Given the description of an element on the screen output the (x, y) to click on. 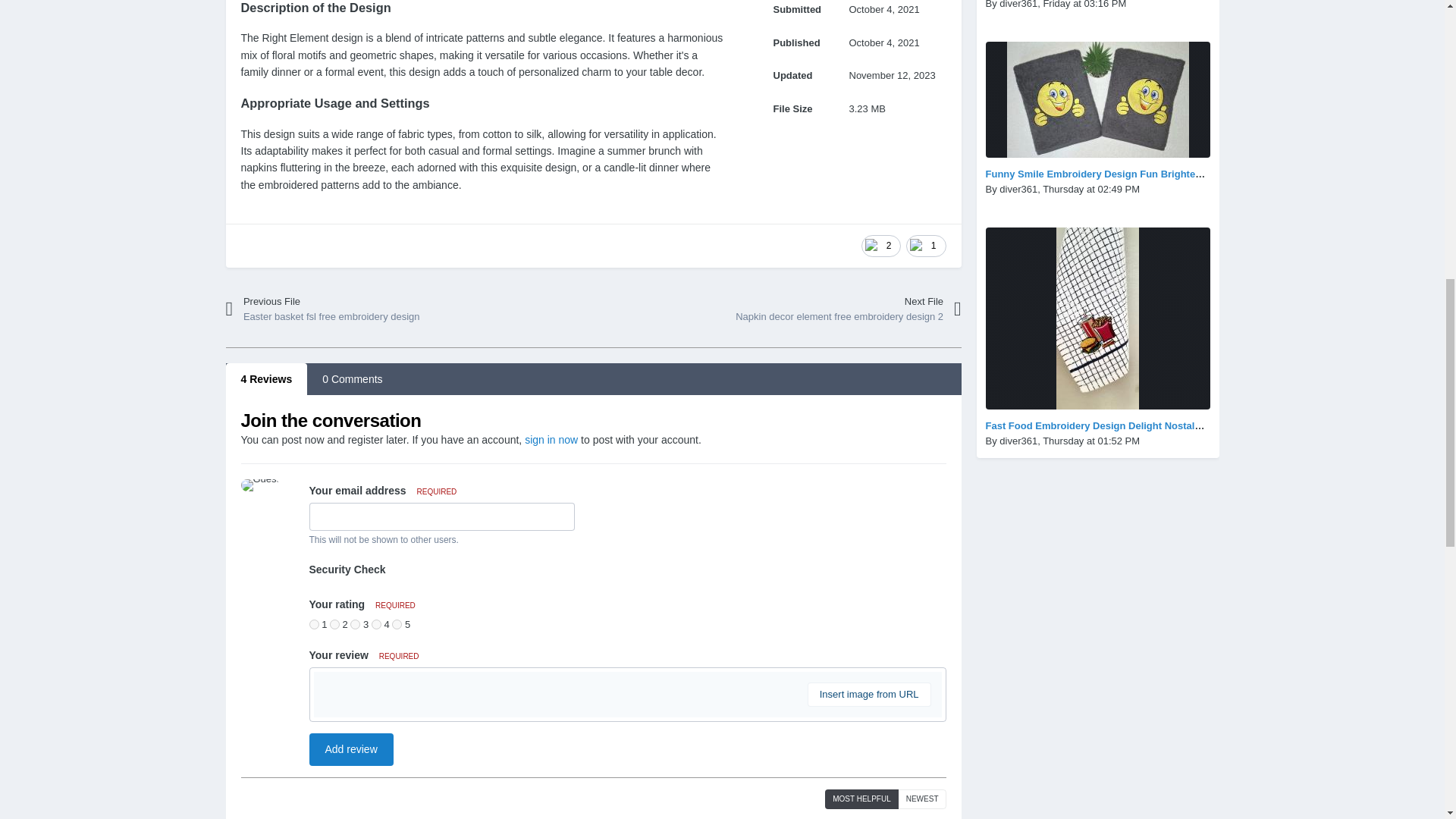
Like (881, 246)
1 (313, 624)
3 (358, 308)
4 (354, 624)
5 (376, 624)
Upvote (396, 624)
Next File (924, 246)
Previous File (827, 308)
2 (358, 308)
